Given the description of an element on the screen output the (x, y) to click on. 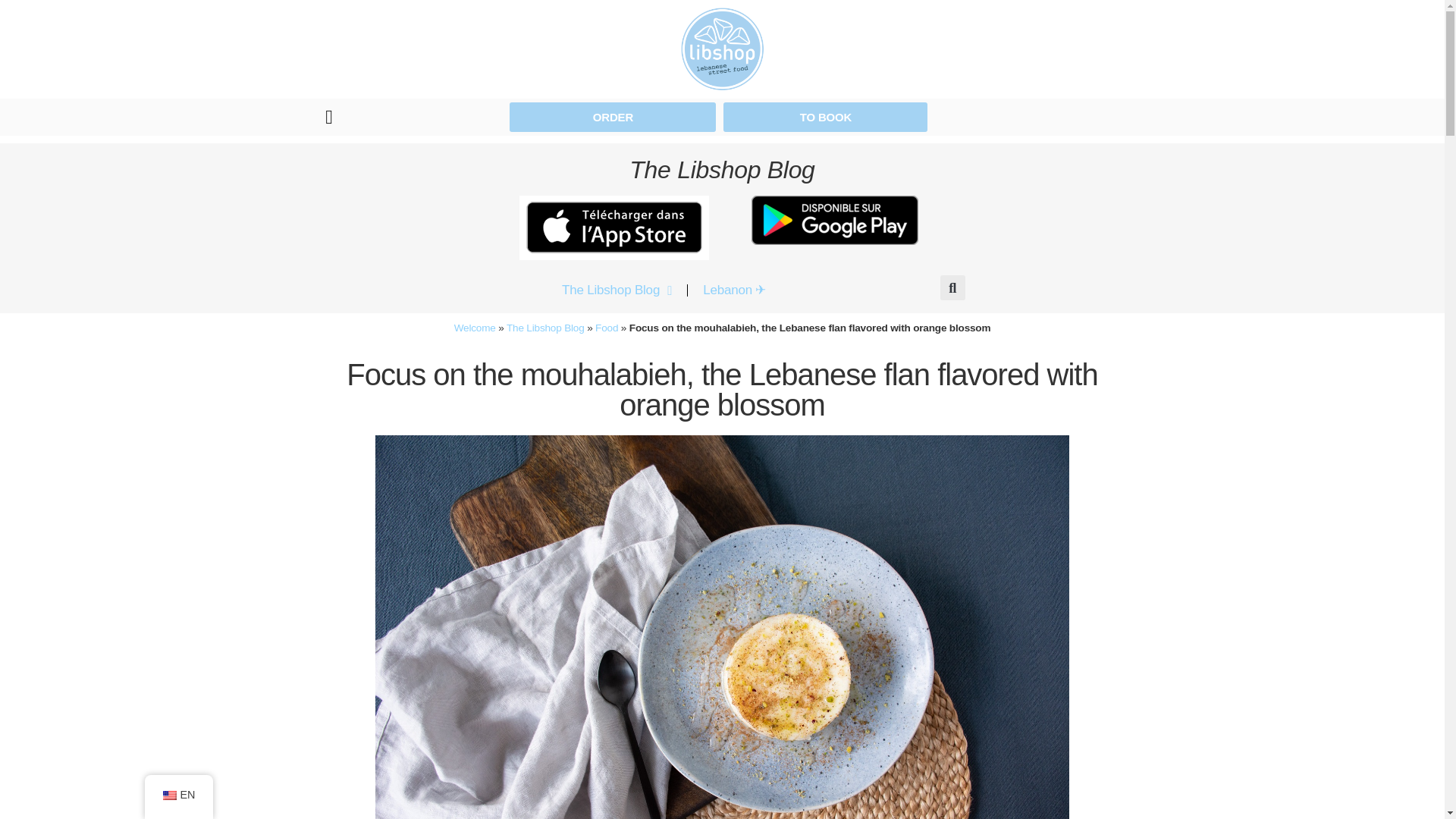
The Libshop Blog (545, 327)
ORDER (612, 116)
Welcome (475, 327)
The Libshop Blog (617, 290)
Food (606, 327)
English (168, 795)
TO BOOK (825, 116)
